Given the description of an element on the screen output the (x, y) to click on. 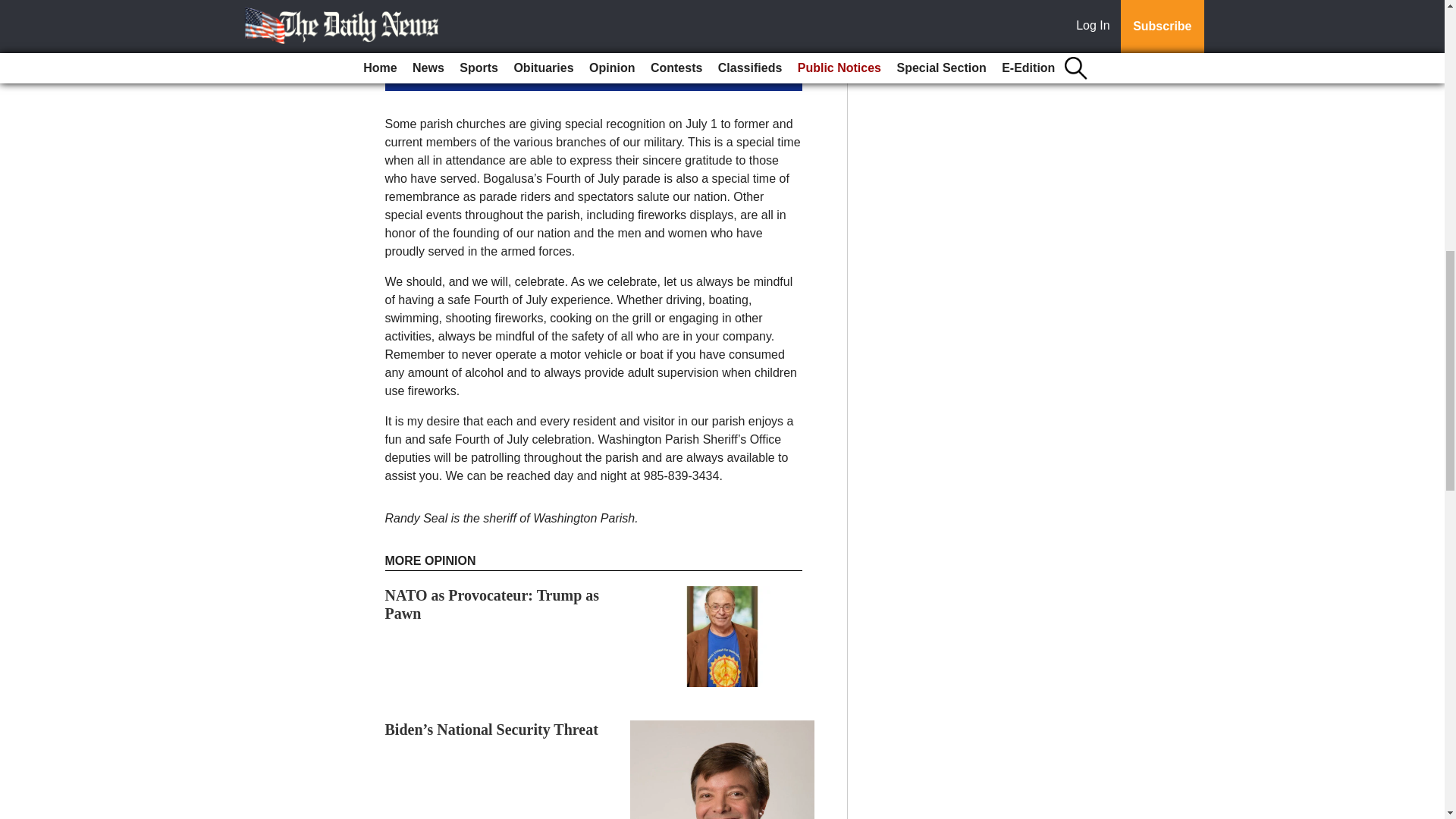
Subscribe (434, 74)
Subscribe (434, 74)
NATO as Provocateur: Trump as Pawn (492, 604)
NATO as Provocateur: Trump as Pawn (492, 604)
